Given the description of an element on the screen output the (x, y) to click on. 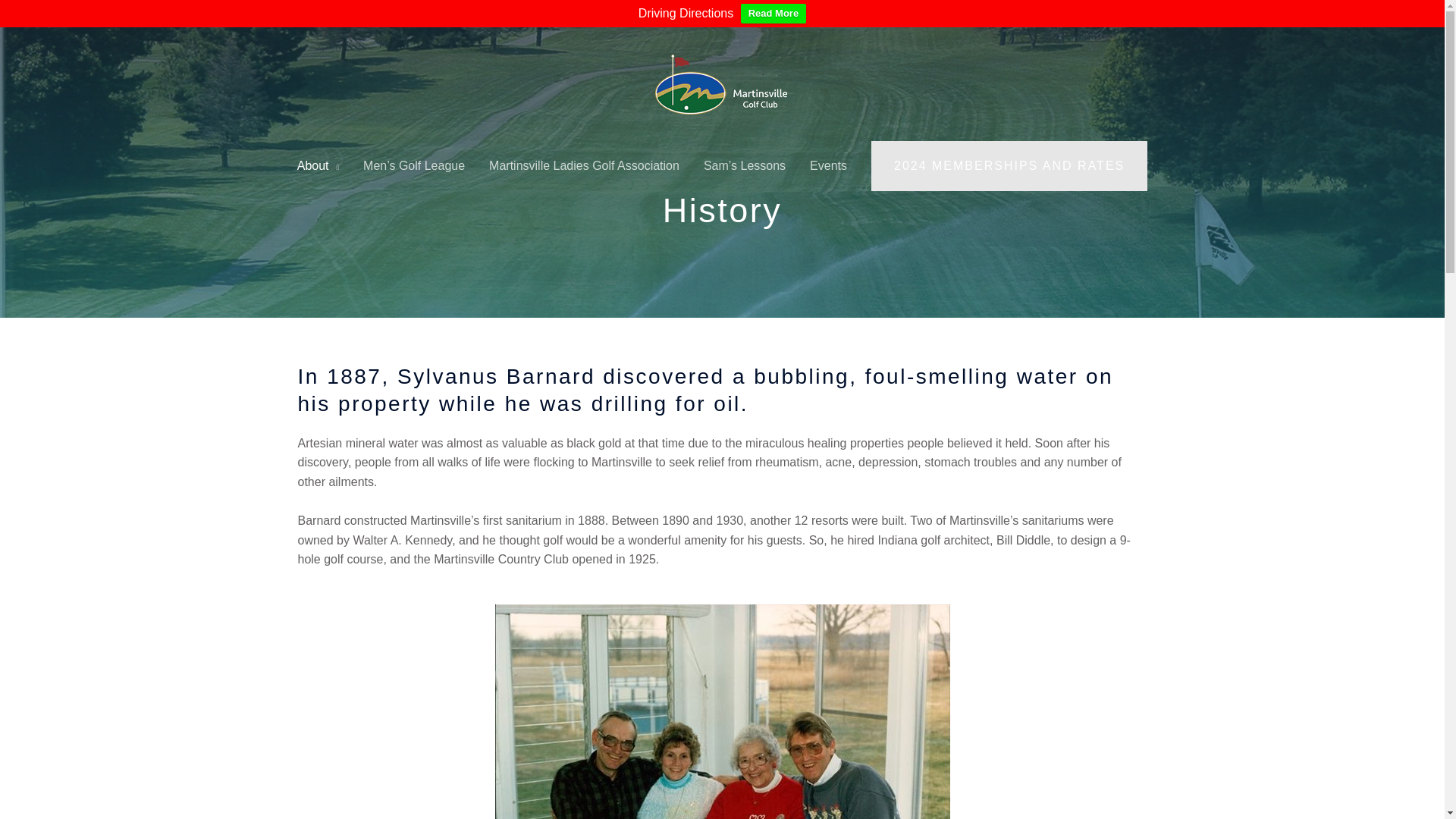
2024 MEMBERSHIPS AND RATES (1008, 165)
About (317, 165)
Martinsville Ladies Golf Association (584, 165)
Events (828, 165)
Read More (773, 13)
